Given the description of an element on the screen output the (x, y) to click on. 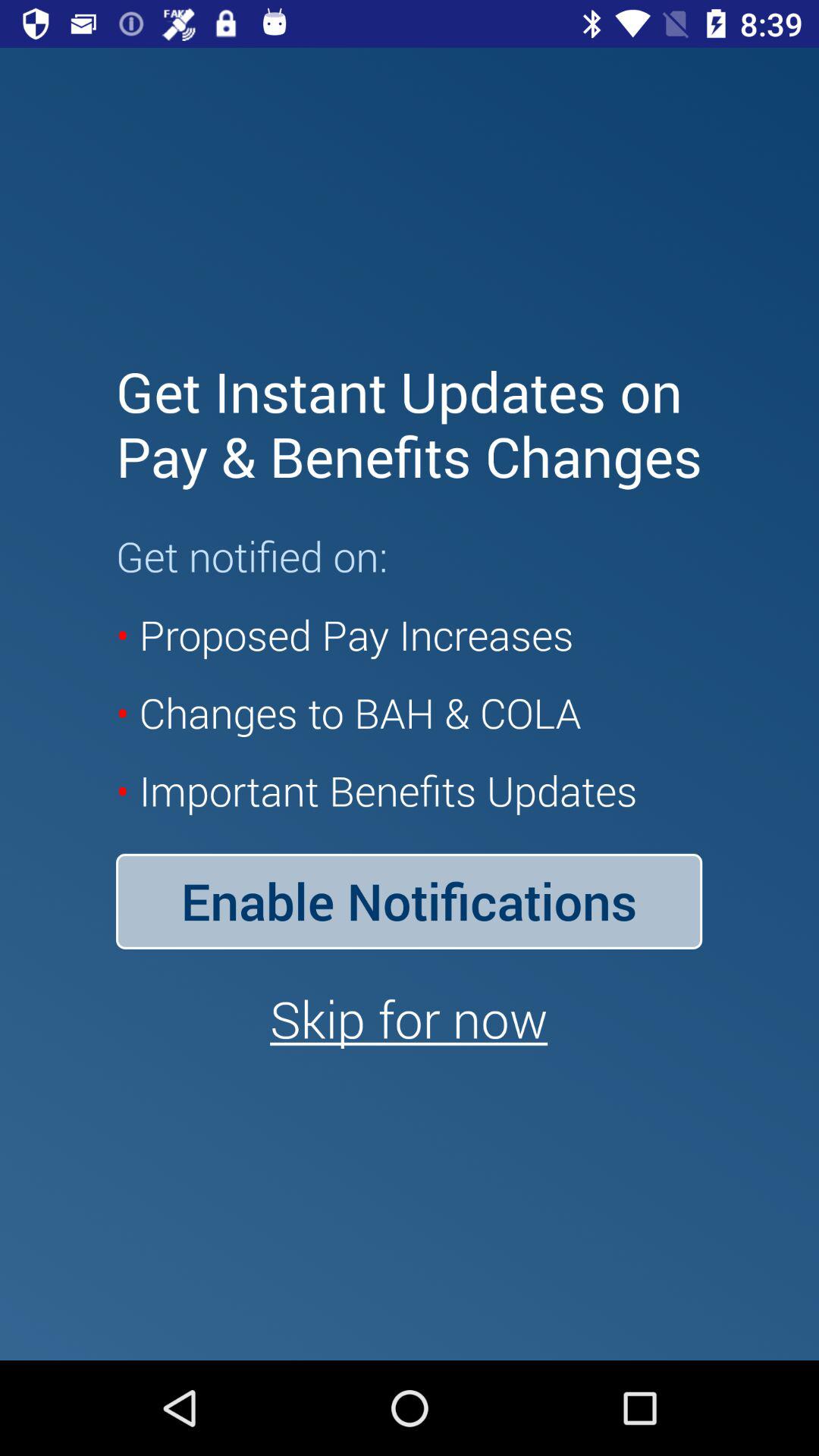
swipe to skip for now (409, 1018)
